Given the description of an element on the screen output the (x, y) to click on. 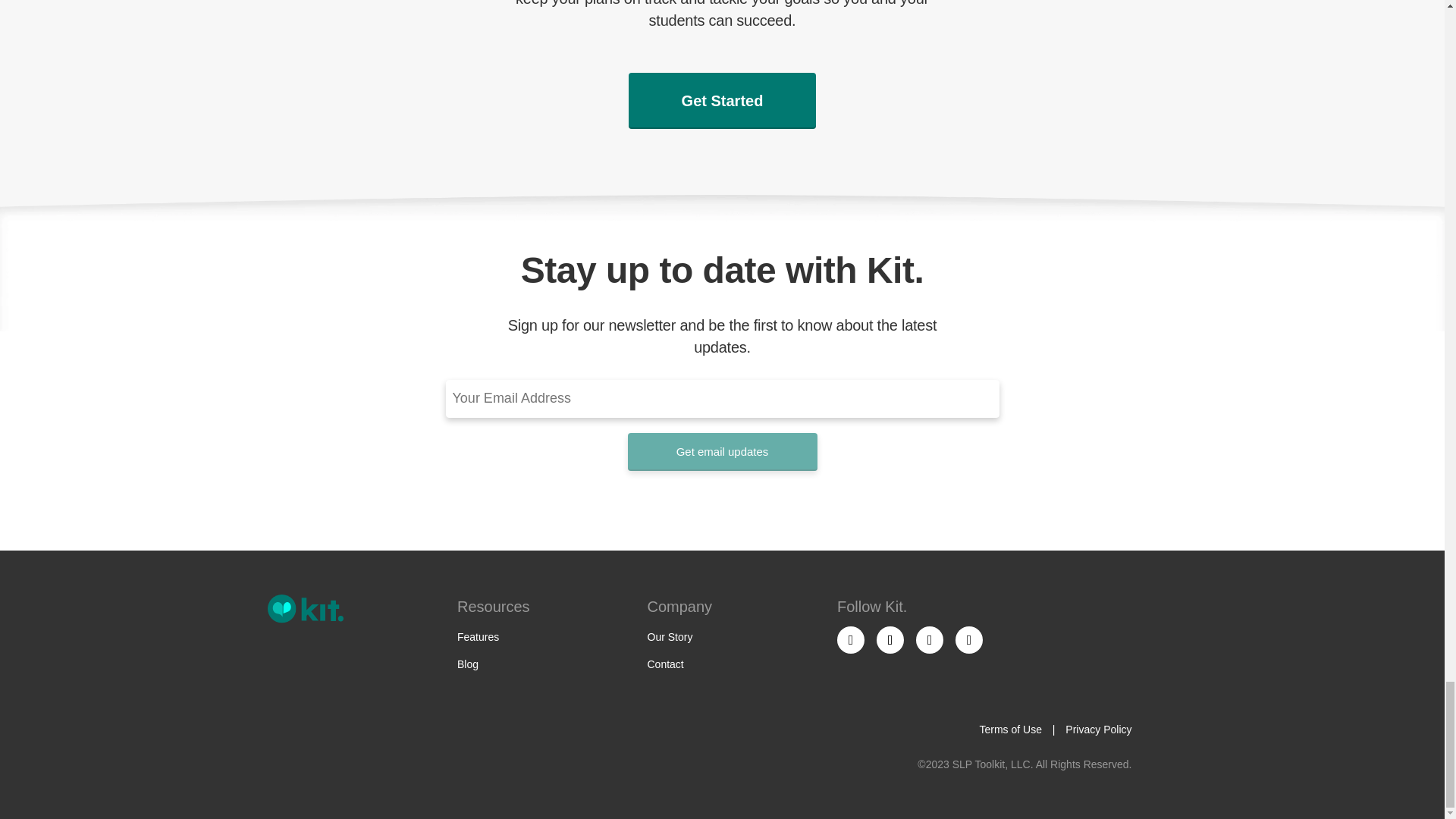
Follow on Facebook (850, 639)
Get email updates (721, 451)
Follow on Youtube (968, 639)
Follow on LinkedIn (929, 639)
Follow on Instagram (890, 639)
Group (304, 608)
